Given the description of an element on the screen output the (x, y) to click on. 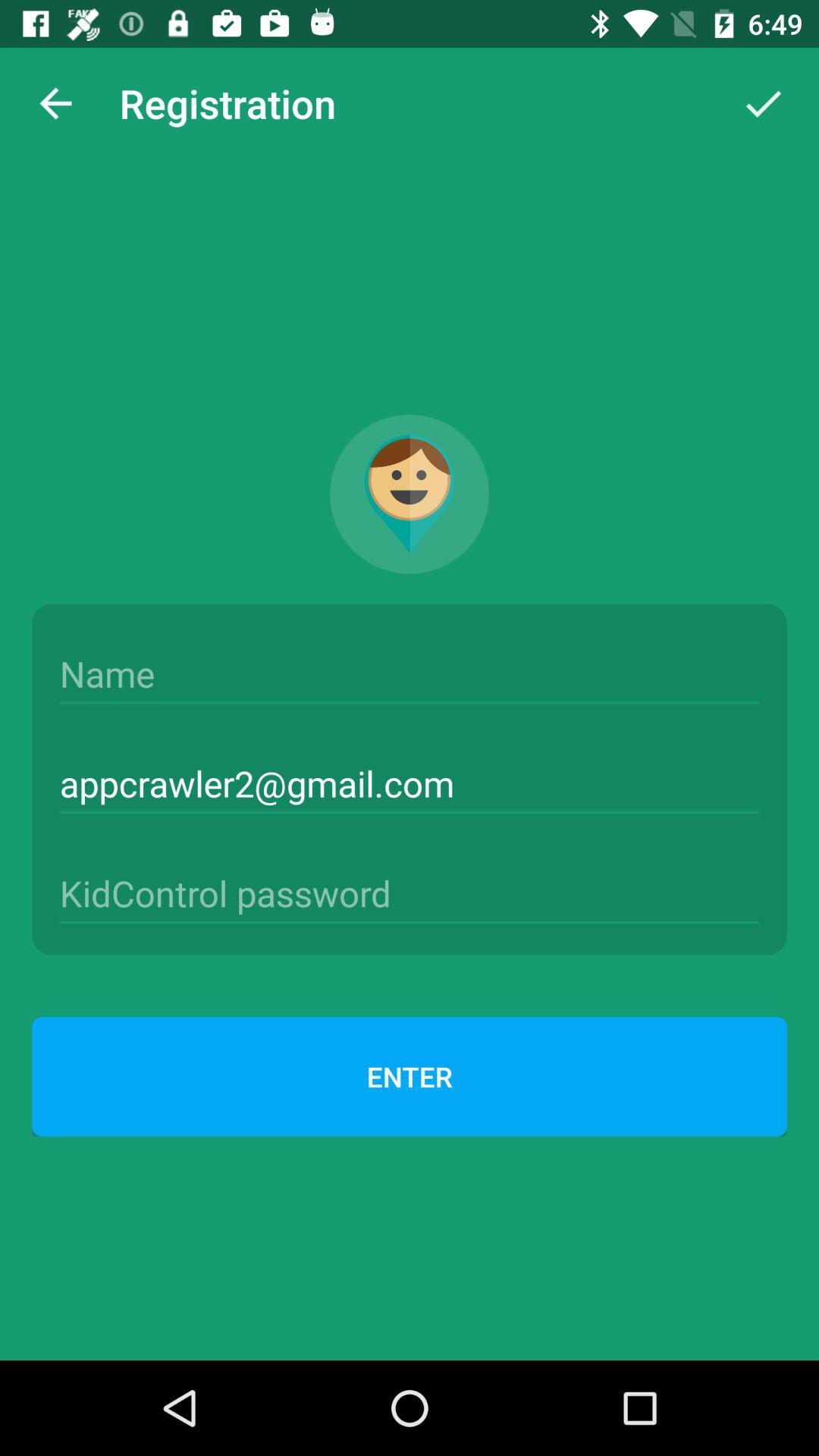
password box (409, 894)
